Given the description of an element on the screen output the (x, y) to click on. 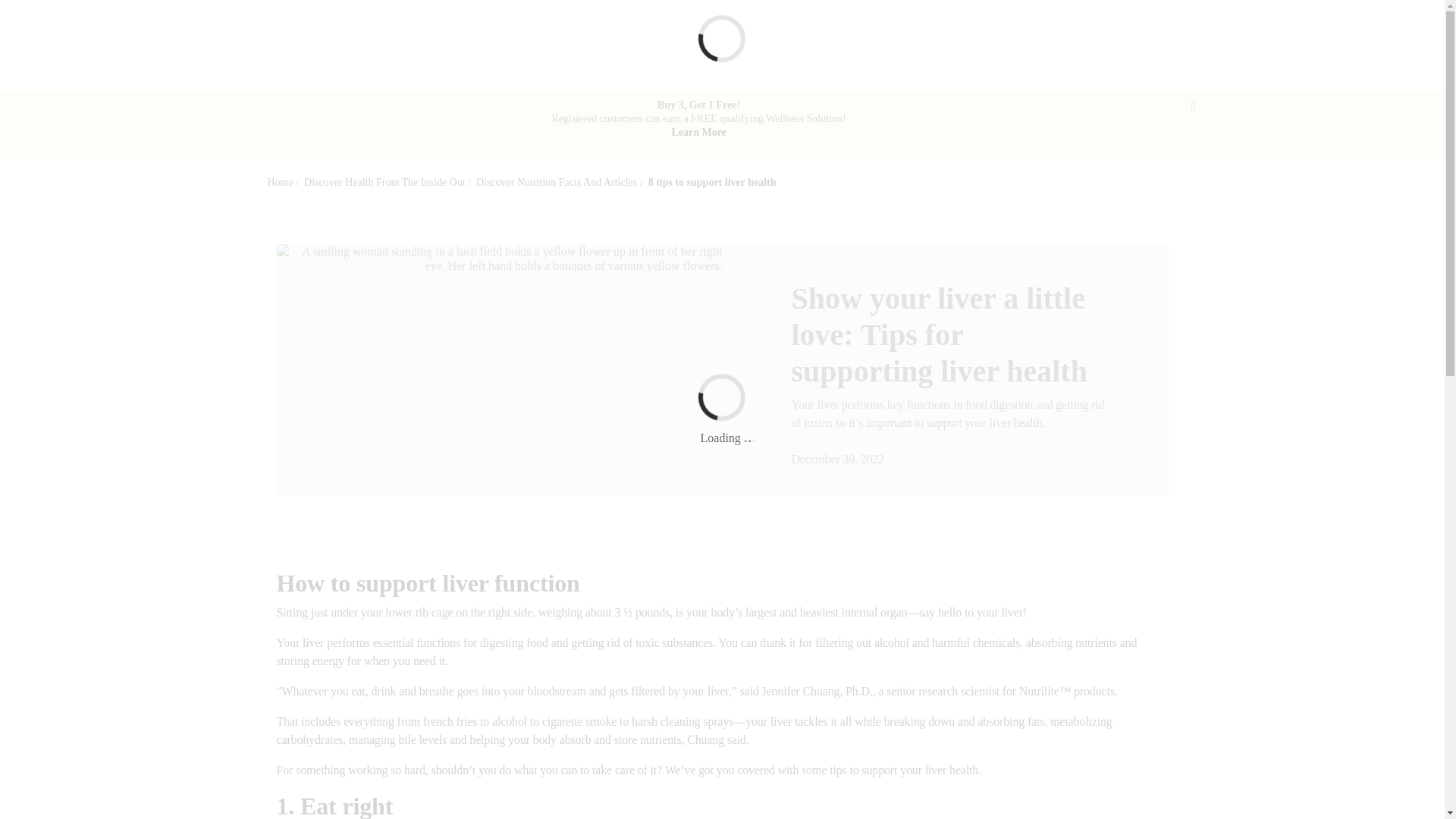
Discover Health From The Inside Out (384, 182)
Discover Nutrition Facts And Articles (556, 182)
Home (279, 182)
Learn More (698, 132)
